Given the description of an element on the screen output the (x, y) to click on. 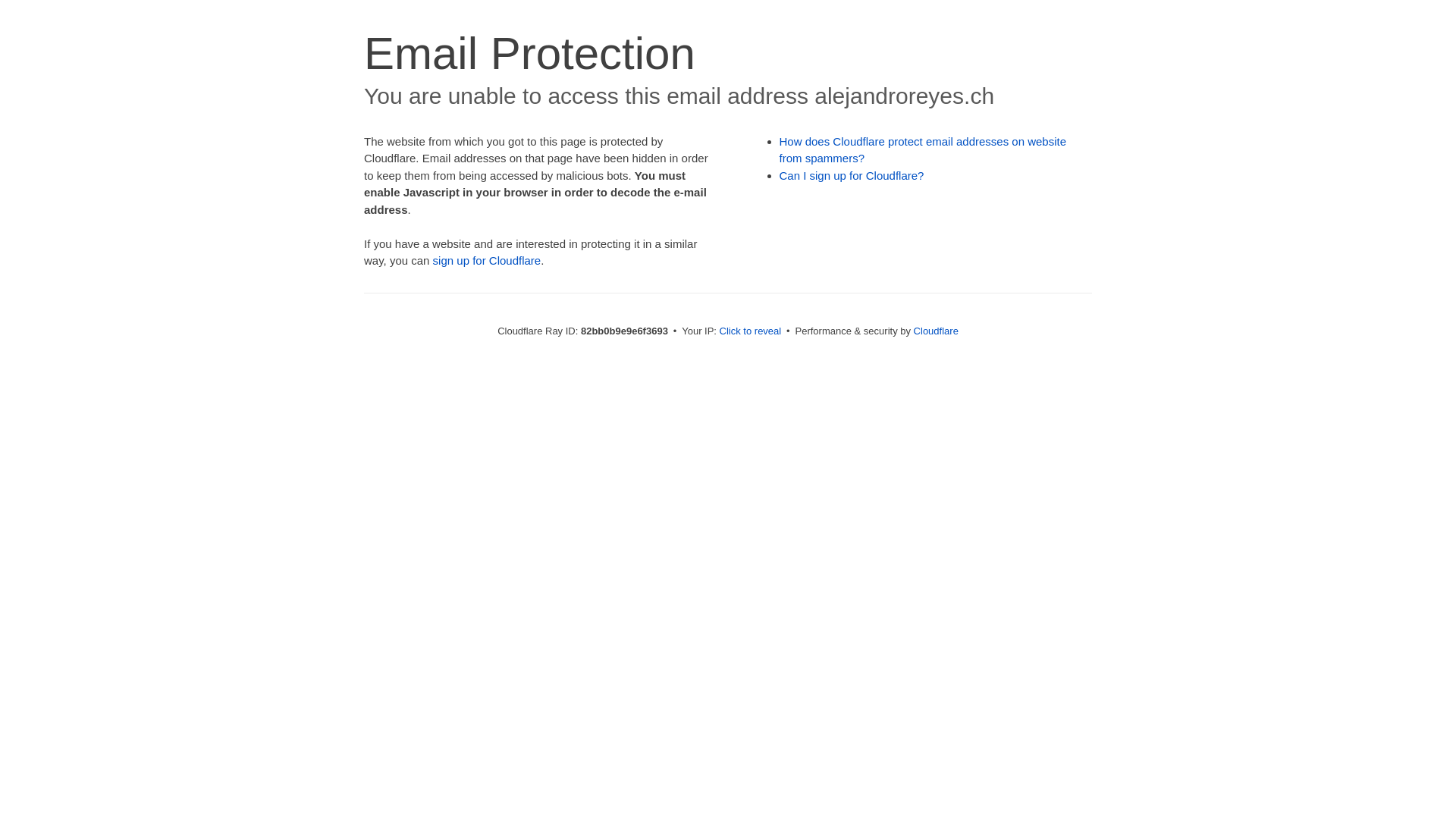
sign up for Cloudflare Element type: text (487, 260)
Click to reveal Element type: text (750, 330)
Can I sign up for Cloudflare? Element type: text (851, 175)
Cloudflare Element type: text (935, 330)
